Given the description of an element on the screen output the (x, y) to click on. 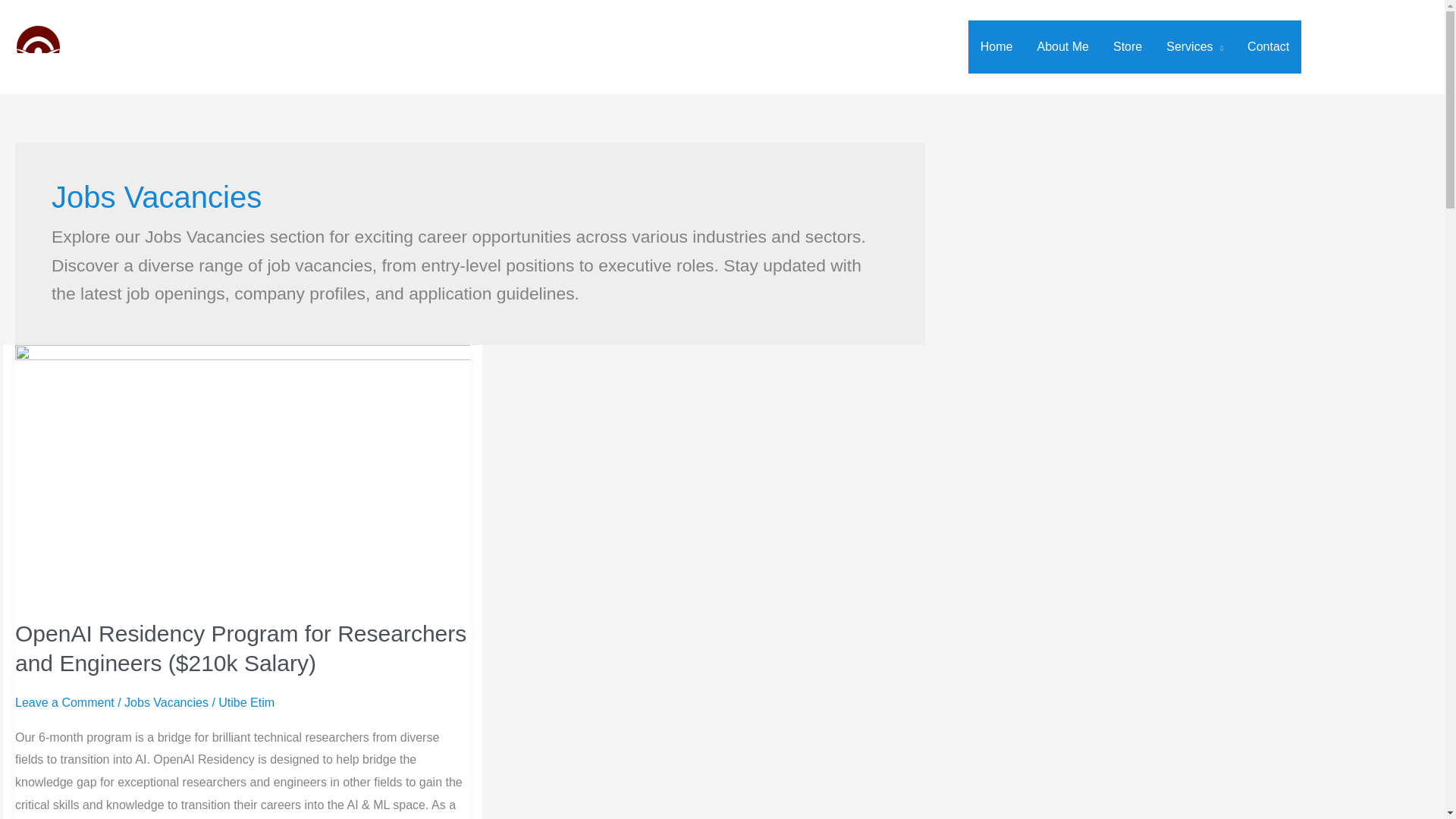
View all posts by Utibe Etim (246, 702)
Home (996, 46)
About Me (1062, 46)
Services (1194, 46)
Jobs Vacancies (165, 702)
Work With Me (1372, 47)
Utibe Etim (246, 702)
Leave a Comment (64, 702)
Store (1127, 46)
Contact (1267, 46)
